Given the description of an element on the screen output the (x, y) to click on. 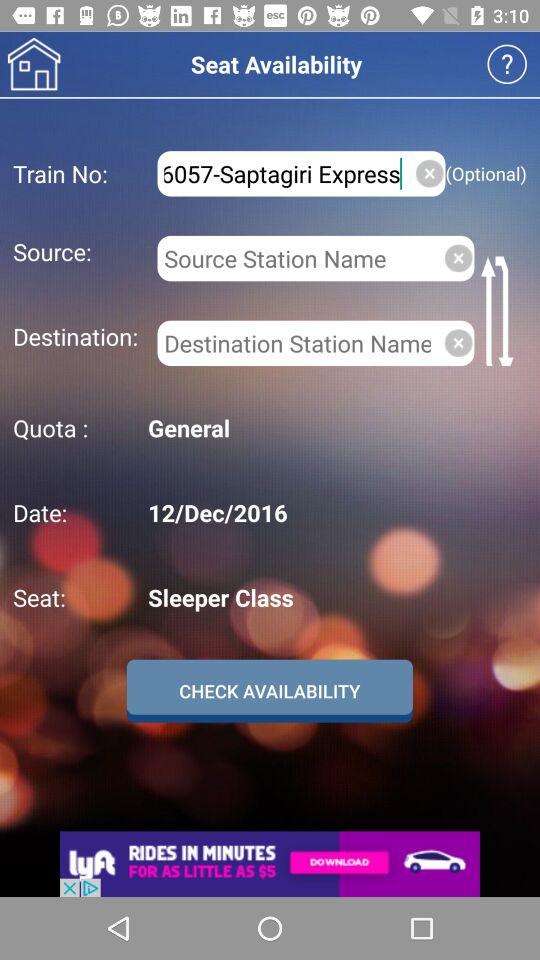
choose icon to the right of seat: icon (333, 597)
